Given the description of an element on the screen output the (x, y) to click on. 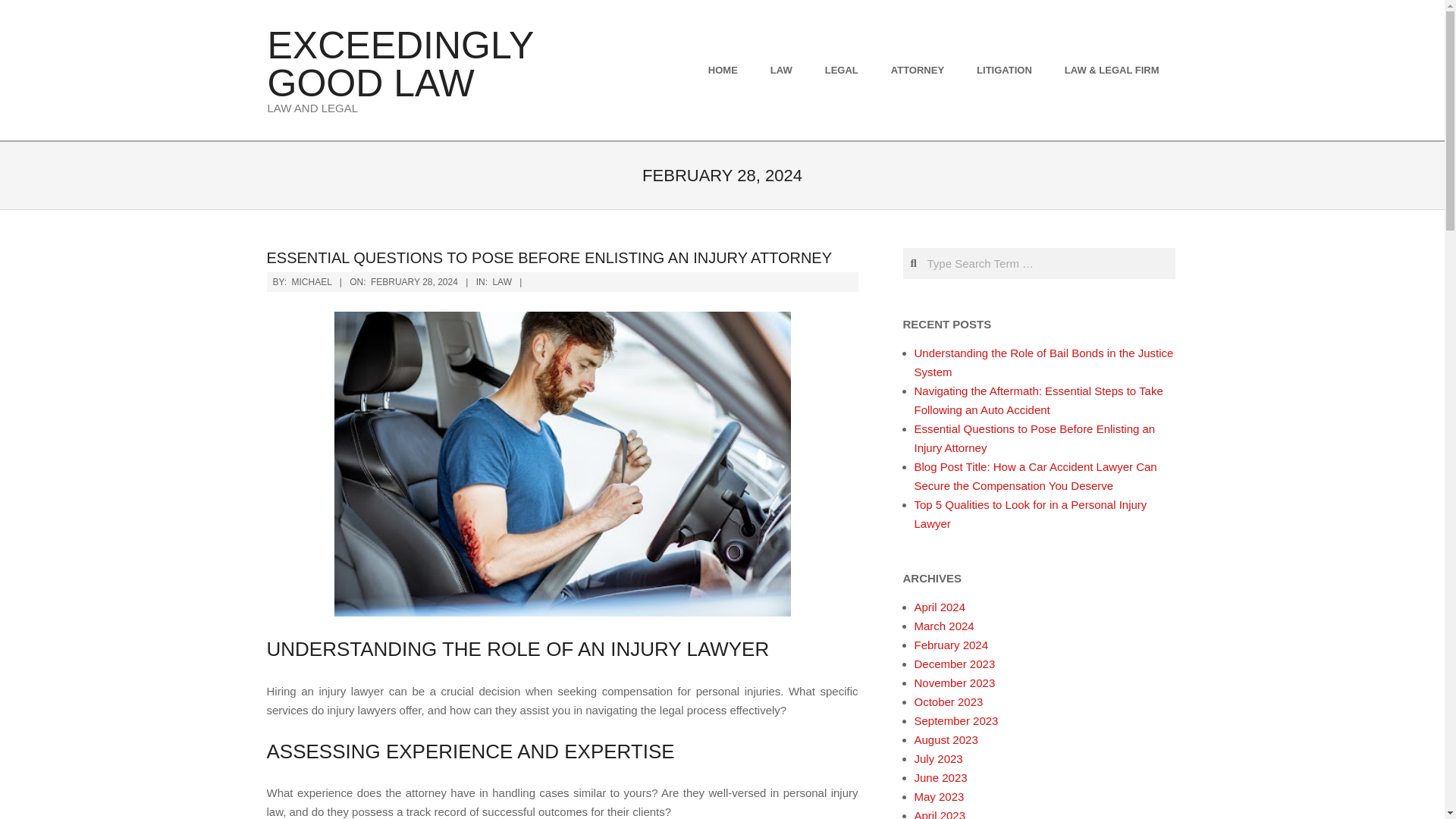
Posts by Michael (311, 281)
LITIGATION (1005, 70)
May 2023 (938, 796)
February 2024 (951, 644)
ATTORNEY (919, 70)
June 2023 (941, 777)
HOME (724, 70)
December 2023 (954, 663)
EXCEEDINGLY GOOD LAW (399, 64)
November 2023 (954, 682)
LAW (502, 281)
LEGAL (843, 70)
LAW (782, 70)
